Given the description of an element on the screen output the (x, y) to click on. 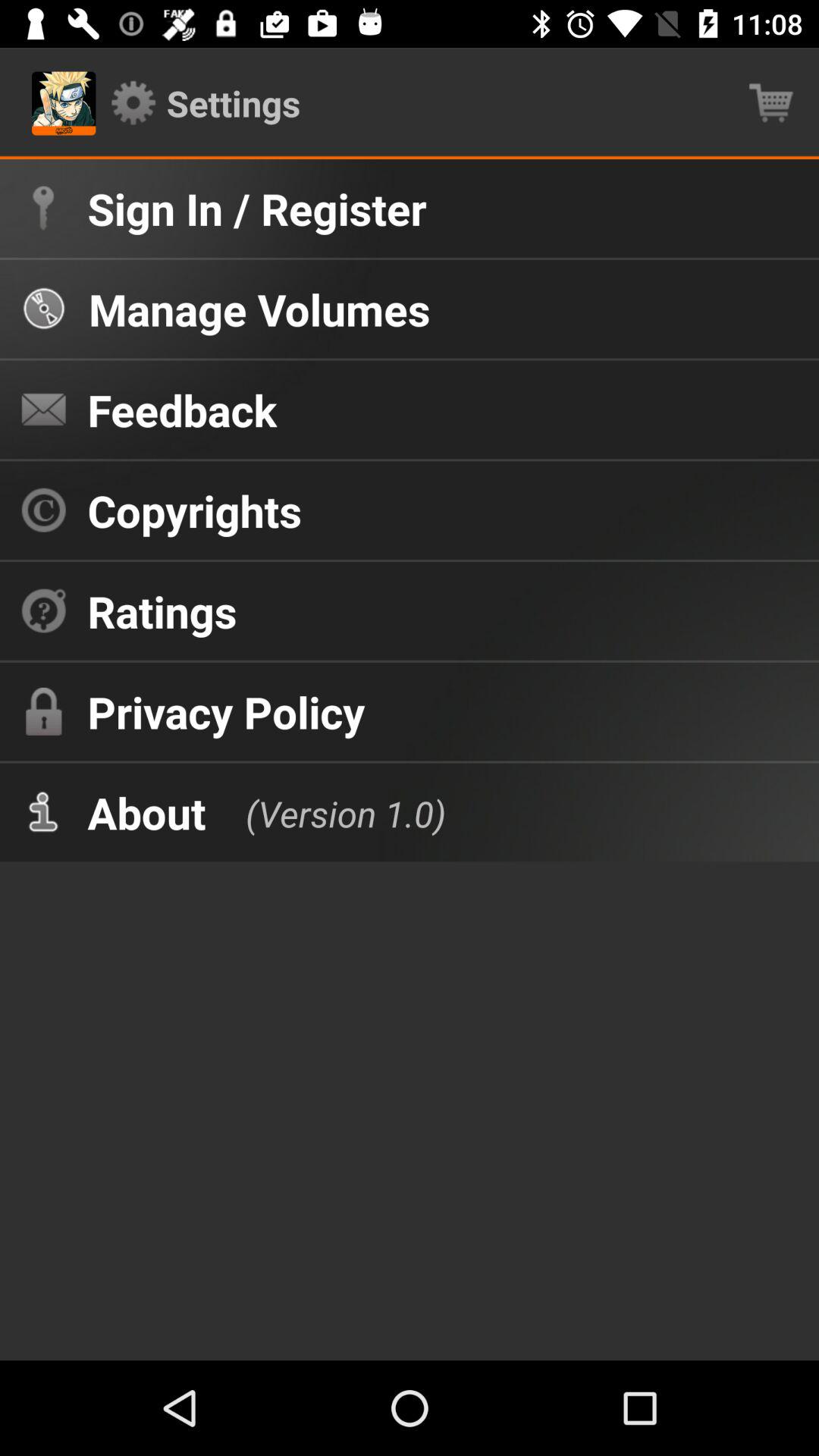
tap icon above about item (226, 711)
